Given the description of an element on the screen output the (x, y) to click on. 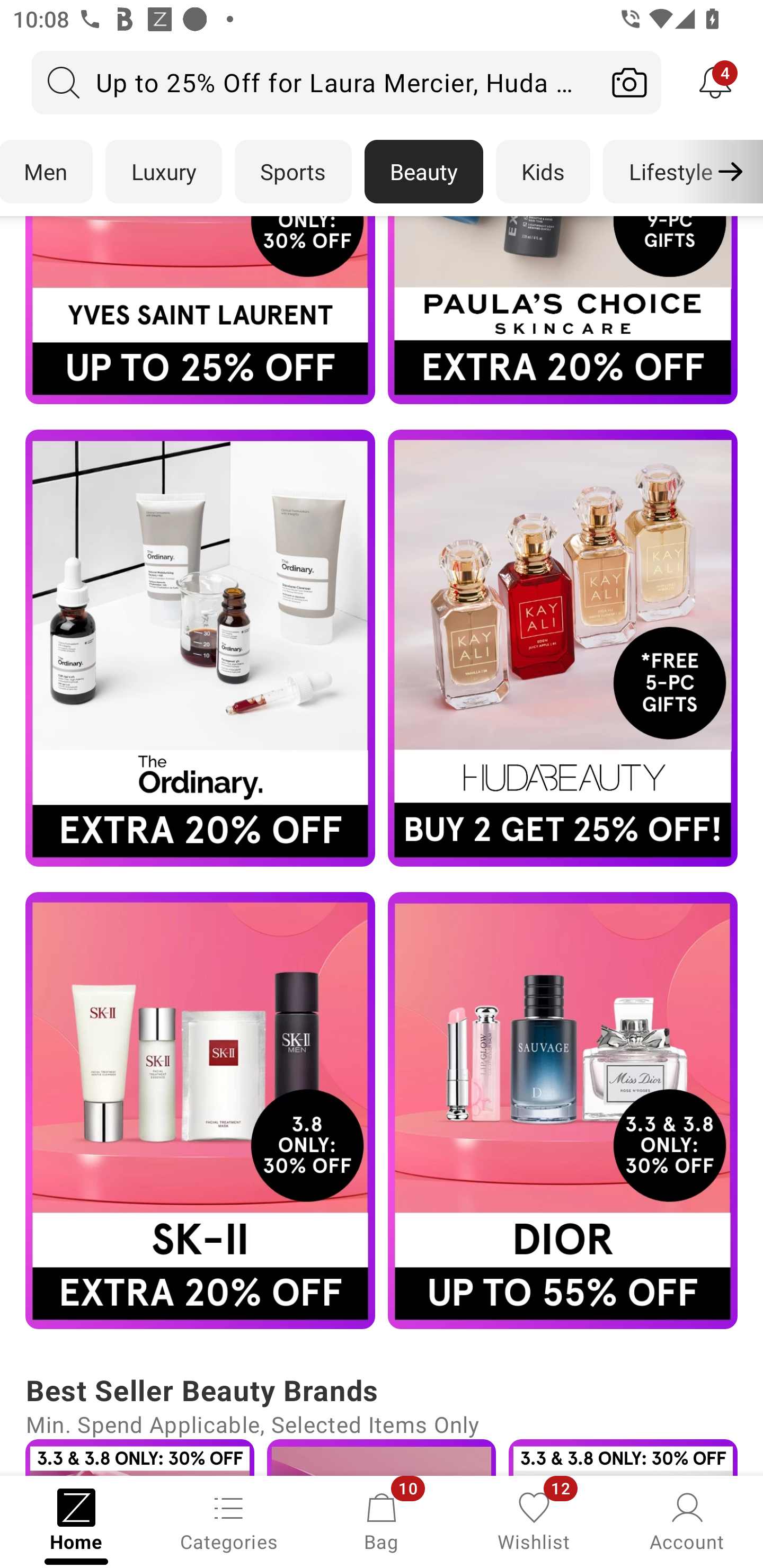
Men (46, 171)
Luxury (163, 171)
Sports (293, 171)
Beauty (423, 171)
Kids (542, 171)
Lifestyle (669, 171)
Campaign banner (200, 310)
Campaign banner (562, 310)
Campaign banner (200, 648)
Campaign banner (562, 648)
Campaign banner (200, 1110)
Campaign banner (562, 1110)
Campaign banner (139, 1457)
Campaign banner (622, 1457)
Categories (228, 1519)
Bag, 10 new notifications Bag (381, 1519)
Wishlist, 12 new notifications Wishlist (533, 1519)
Account (686, 1519)
